Given the description of an element on the screen output the (x, y) to click on. 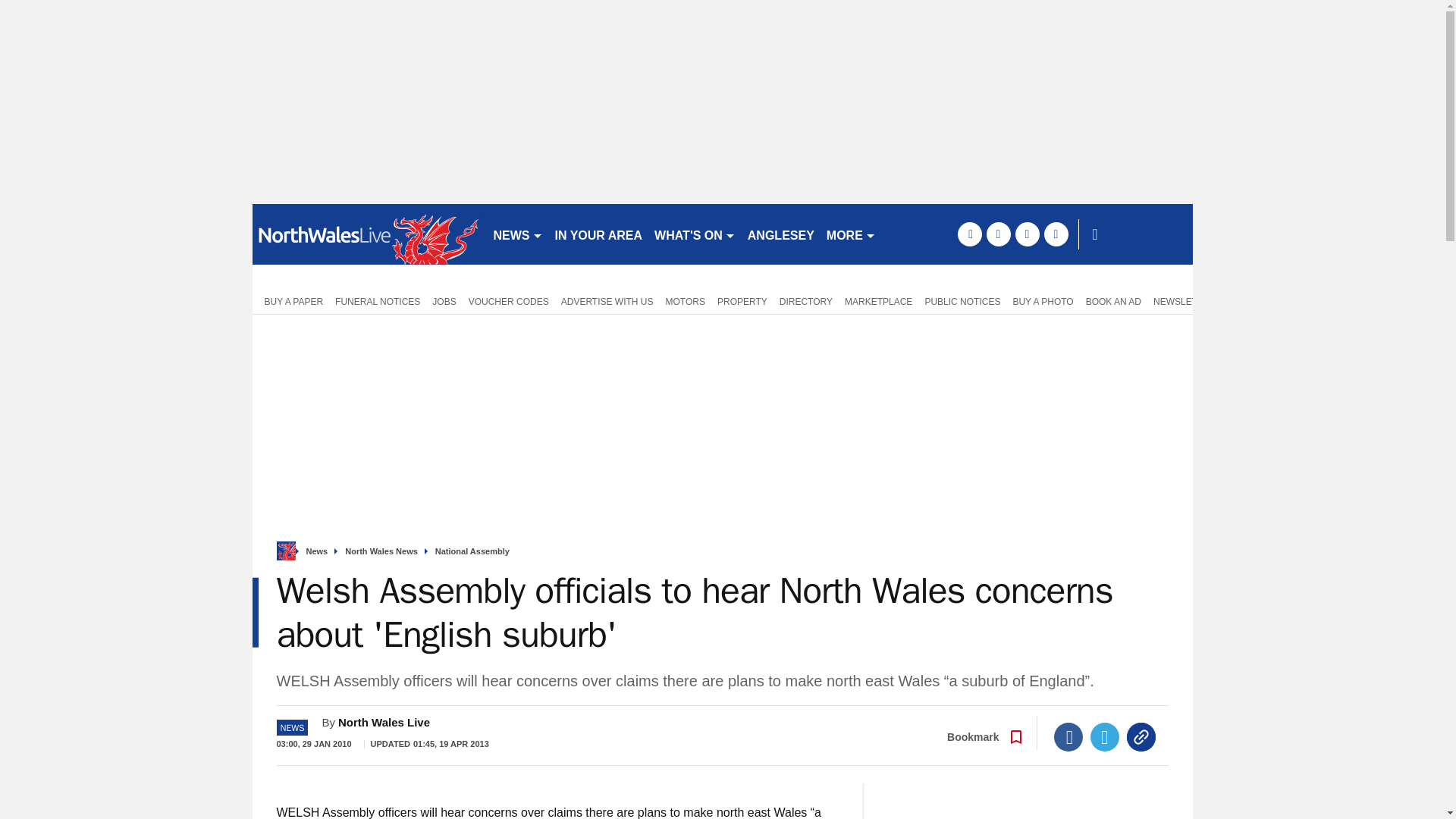
NEWS (517, 233)
VOUCHER CODES (508, 300)
facebook (968, 233)
FUNERAL NOTICES (377, 300)
BUY A PAPER (290, 300)
IN YOUR AREA (598, 233)
northwales (365, 233)
MOTORS (685, 300)
ADVERTISE WITH US (606, 300)
PROPERTY (742, 300)
